Given the description of an element on the screen output the (x, y) to click on. 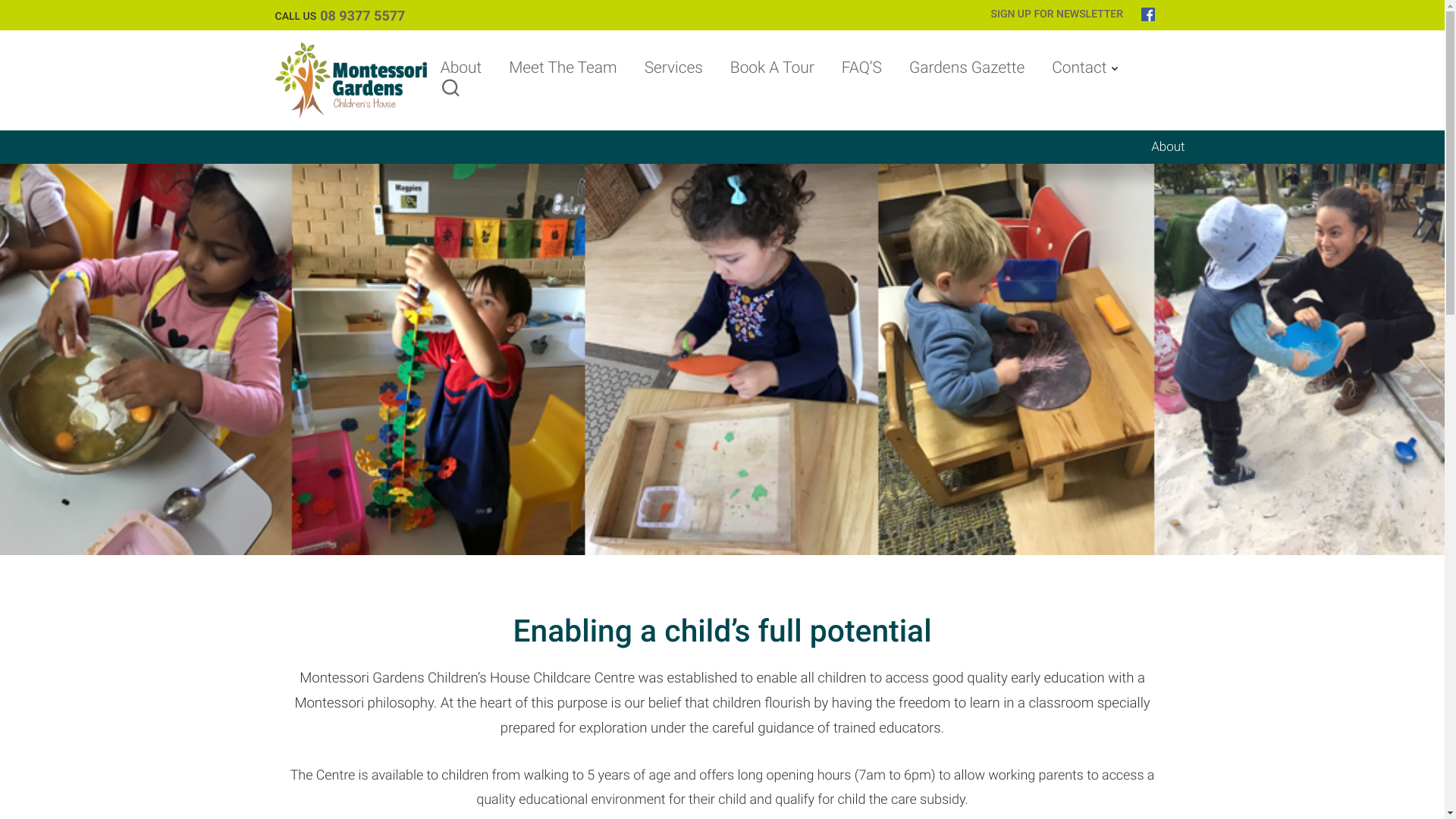
Meet The Team Element type: text (562, 67)
About Element type: text (460, 67)
Book A Tour Element type: text (772, 67)
SIGN UP FOR NEWSLETTER Element type: text (1056, 14)
SEARCH Element type: text (450, 91)
Services Element type: text (673, 67)
Skip to content Element type: text (3, 3)
08 9377 5577 Element type: text (362, 16)
Contact Element type: text (1077, 67)
Gardens Gazette Element type: text (966, 67)
